Given the description of an element on the screen output the (x, y) to click on. 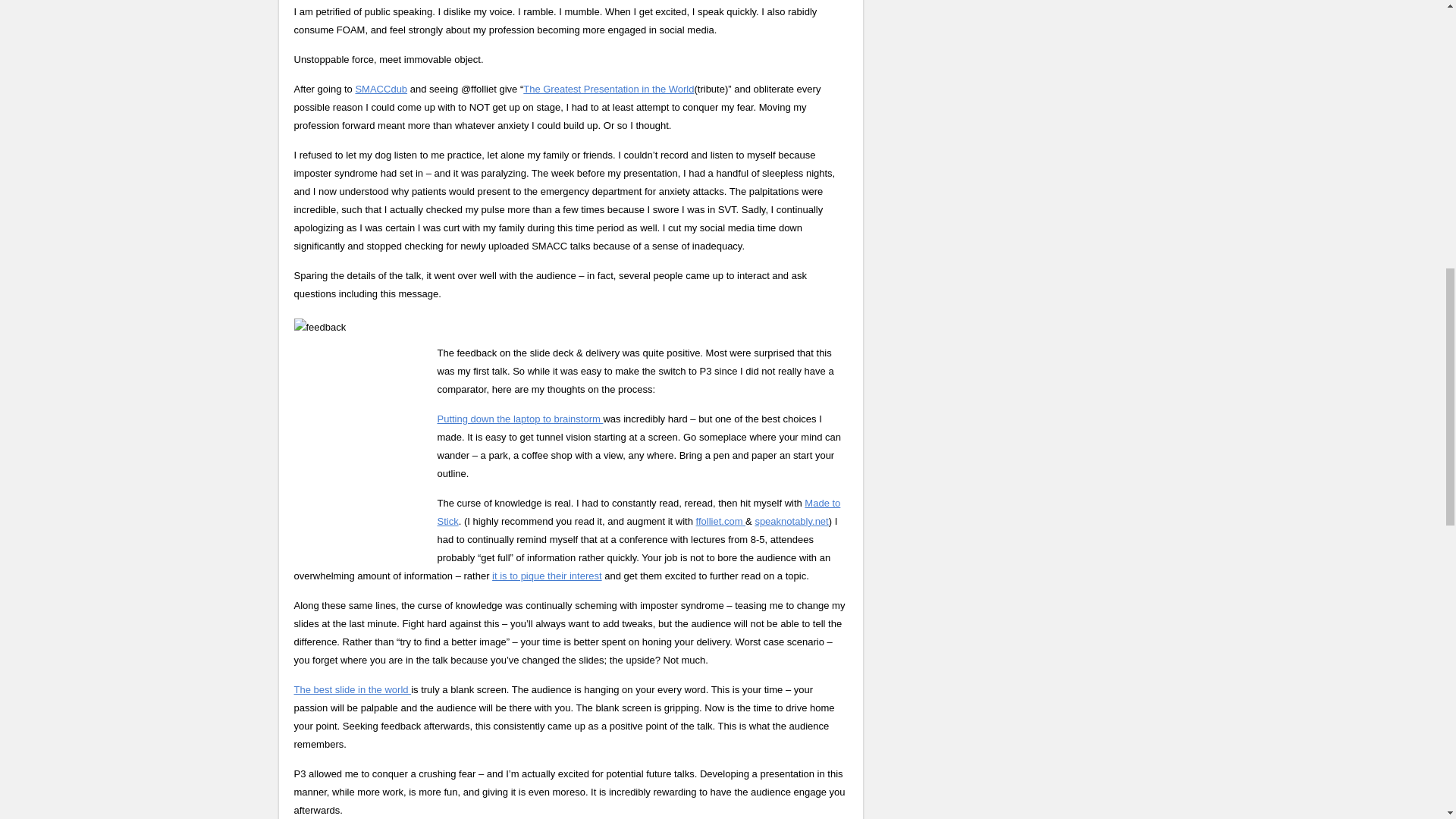
it is to pique their interest (547, 575)
ffolliet.com (720, 521)
The Greatest Presentation in the World (608, 89)
SMACCdub (381, 89)
The best slide in the world (353, 689)
Putting down the laptop to brainstorm (519, 419)
speaknotably.net (791, 521)
Made to Stick (638, 512)
